Given the description of an element on the screen output the (x, y) to click on. 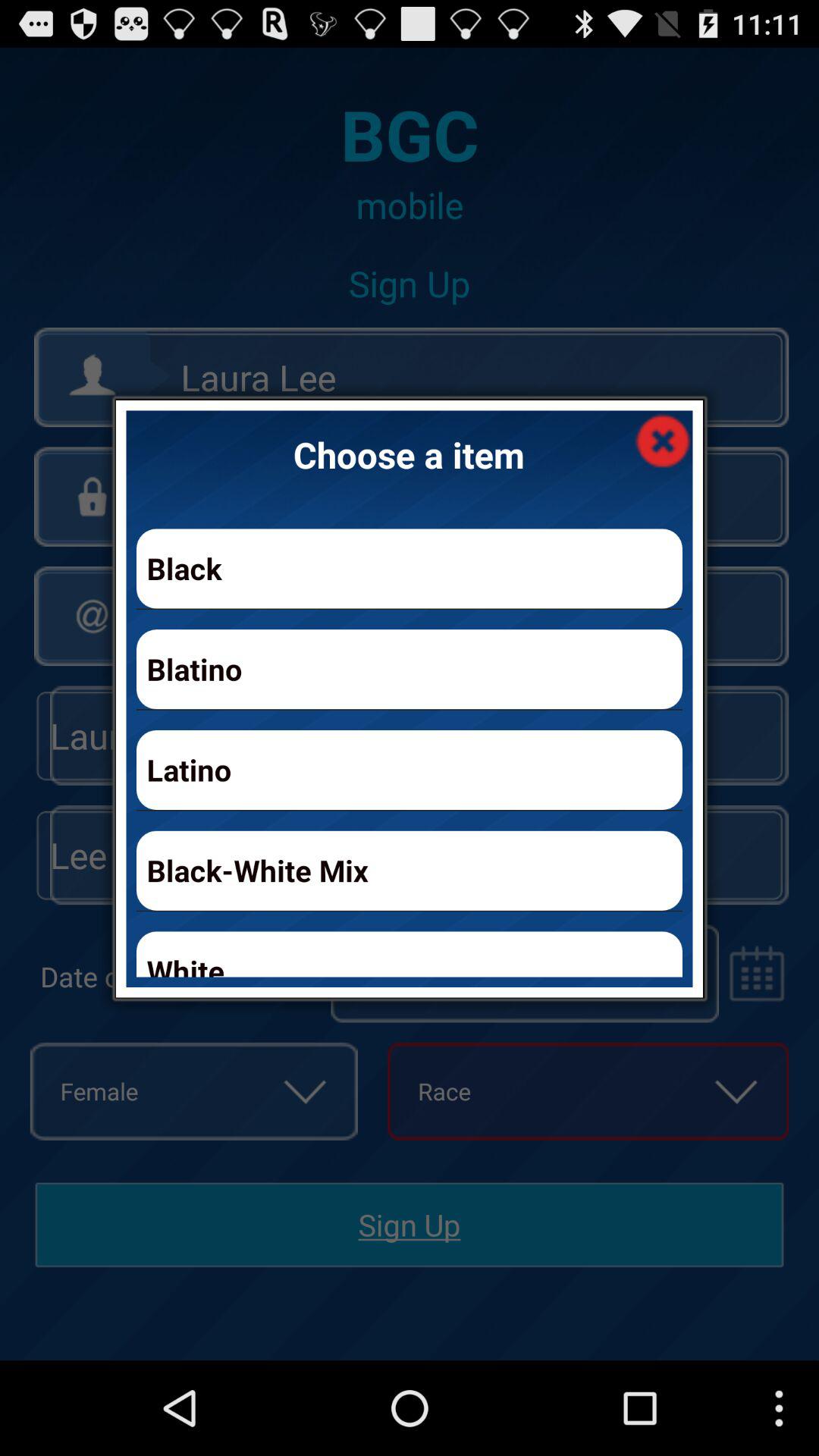
select the item at the top right corner (662, 440)
